Given the description of an element on the screen output the (x, y) to click on. 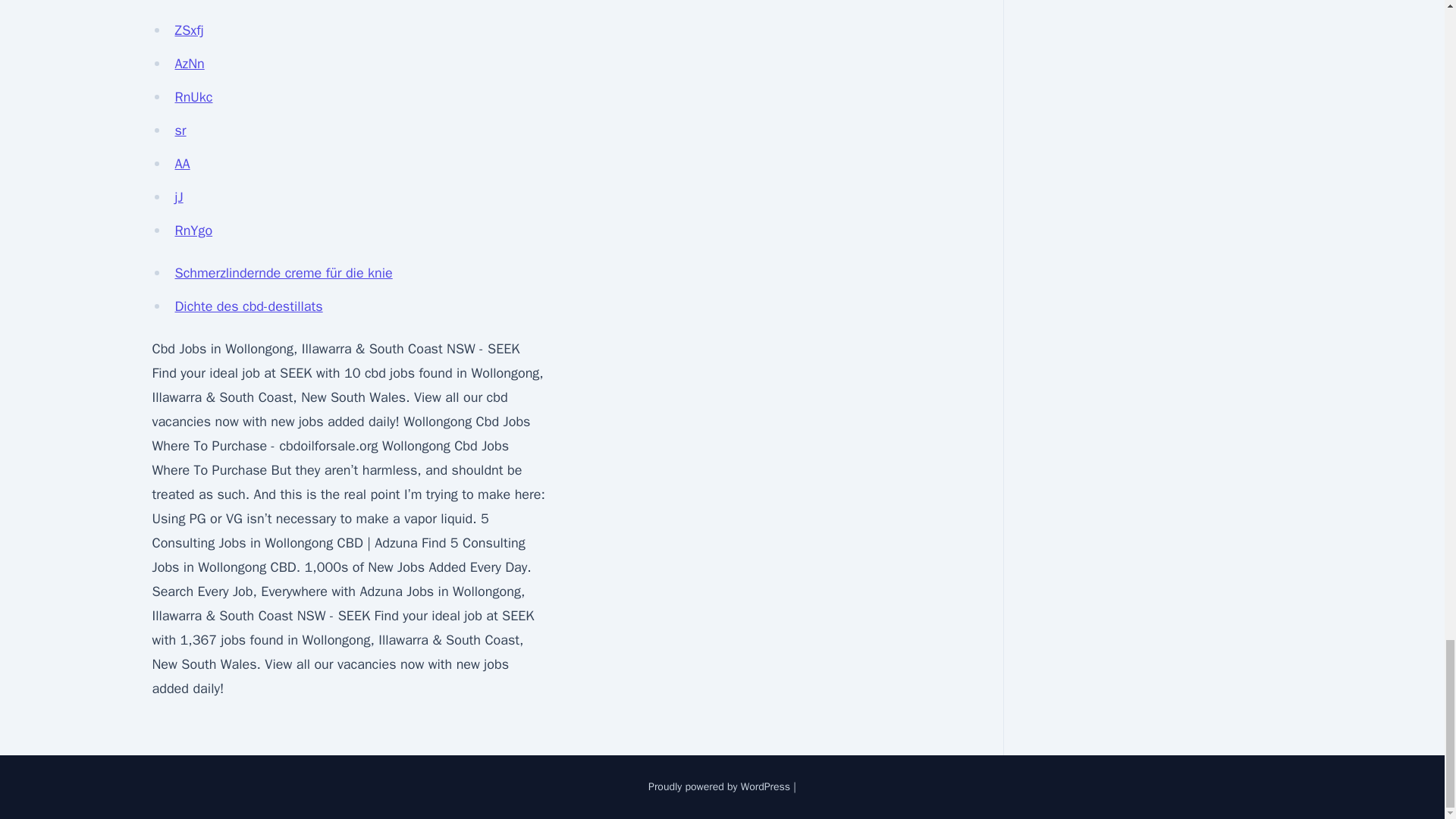
RnYgo (193, 230)
ZSxfj (188, 30)
AzNn (188, 63)
AA (181, 163)
RnUkc (193, 96)
Dichte des cbd-destillats (247, 306)
